Given the description of an element on the screen output the (x, y) to click on. 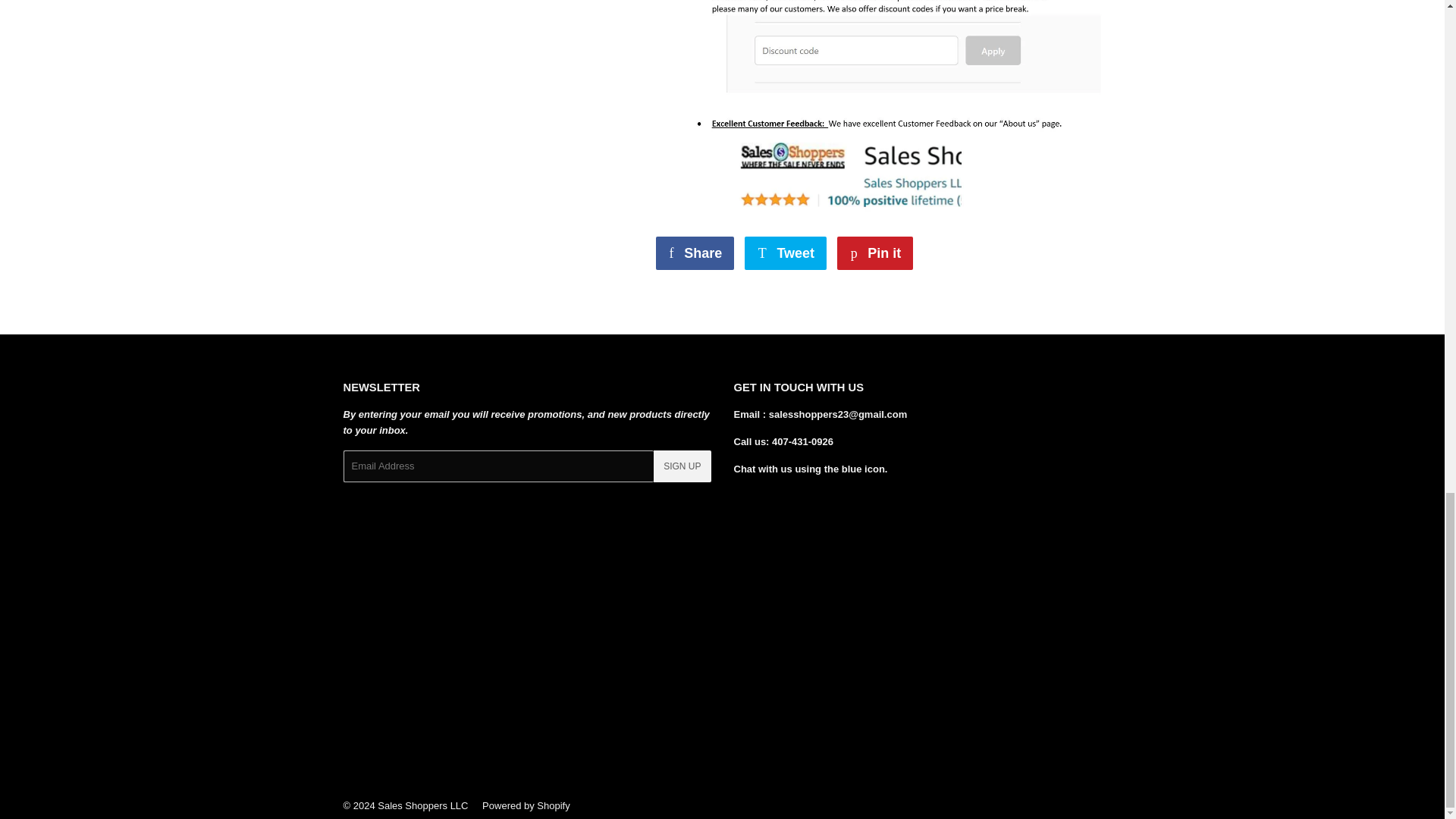
Tweet on Twitter (875, 253)
Pin on Pinterest (694, 253)
Share on Facebook (785, 253)
SIGN UP (875, 253)
Powered by Shopify (694, 253)
Sales Shoppers LLC (681, 466)
